Given the description of an element on the screen output the (x, y) to click on. 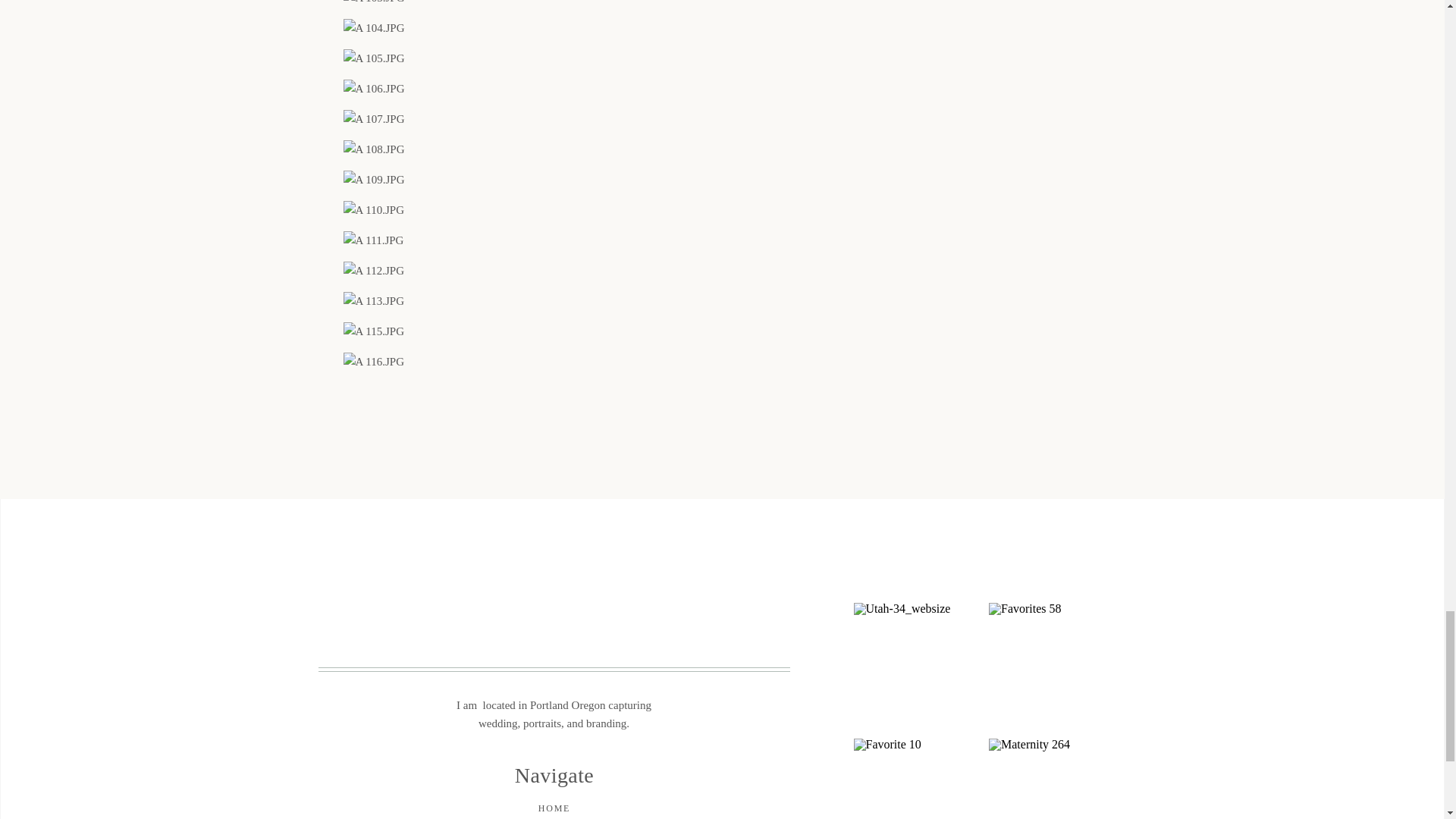
Favorite 10 (919, 778)
Maternity 264 (1054, 778)
HOME (553, 809)
Favorites 58 (1054, 668)
